Given the description of an element on the screen output the (x, y) to click on. 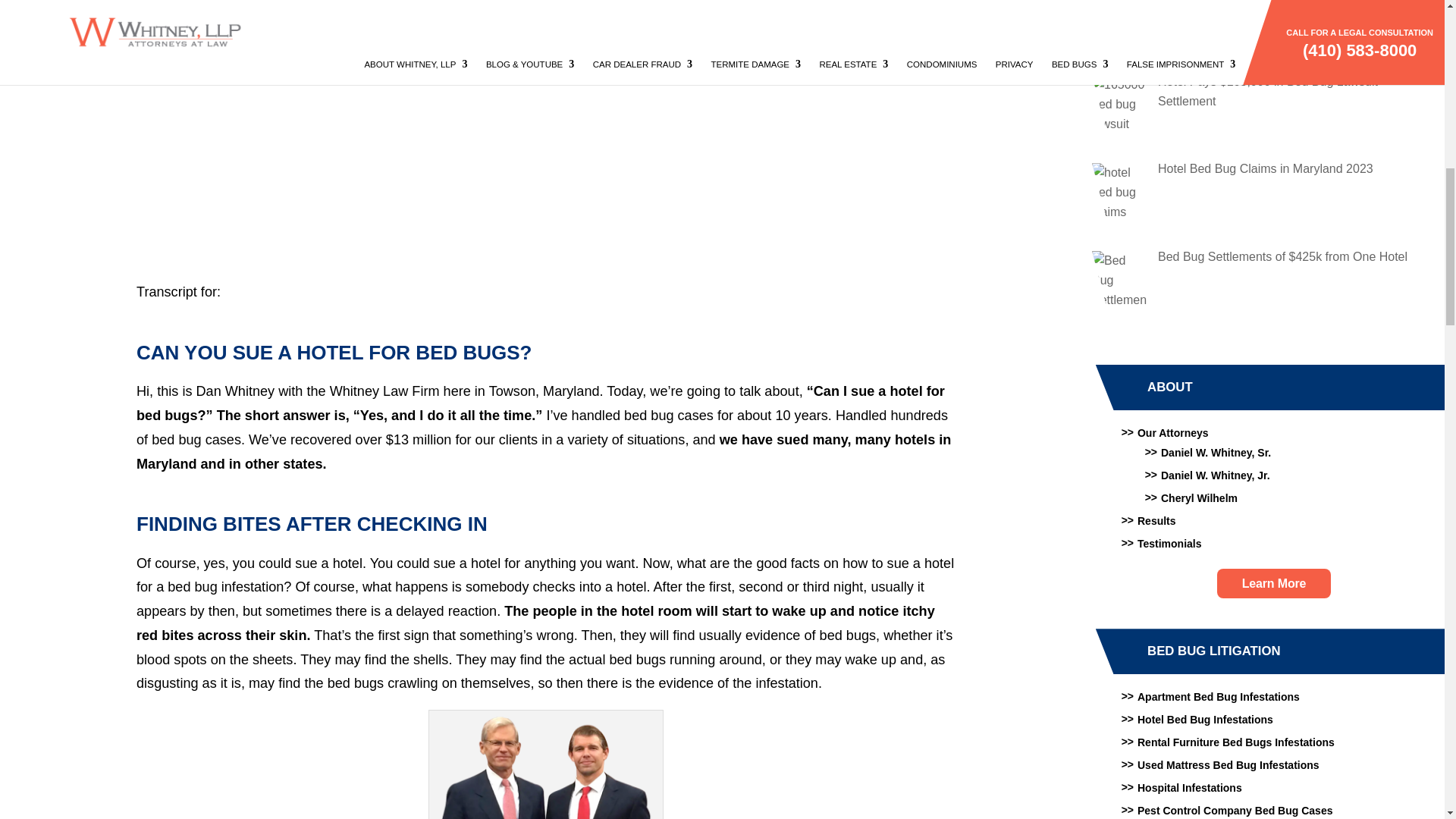
hotel (1120, 22)
hotel bed bug claims maryland (1120, 191)
Can You Sue a Hotel for Bed Bugs? Lawyer Explains (545, 767)
